Given the description of an element on the screen output the (x, y) to click on. 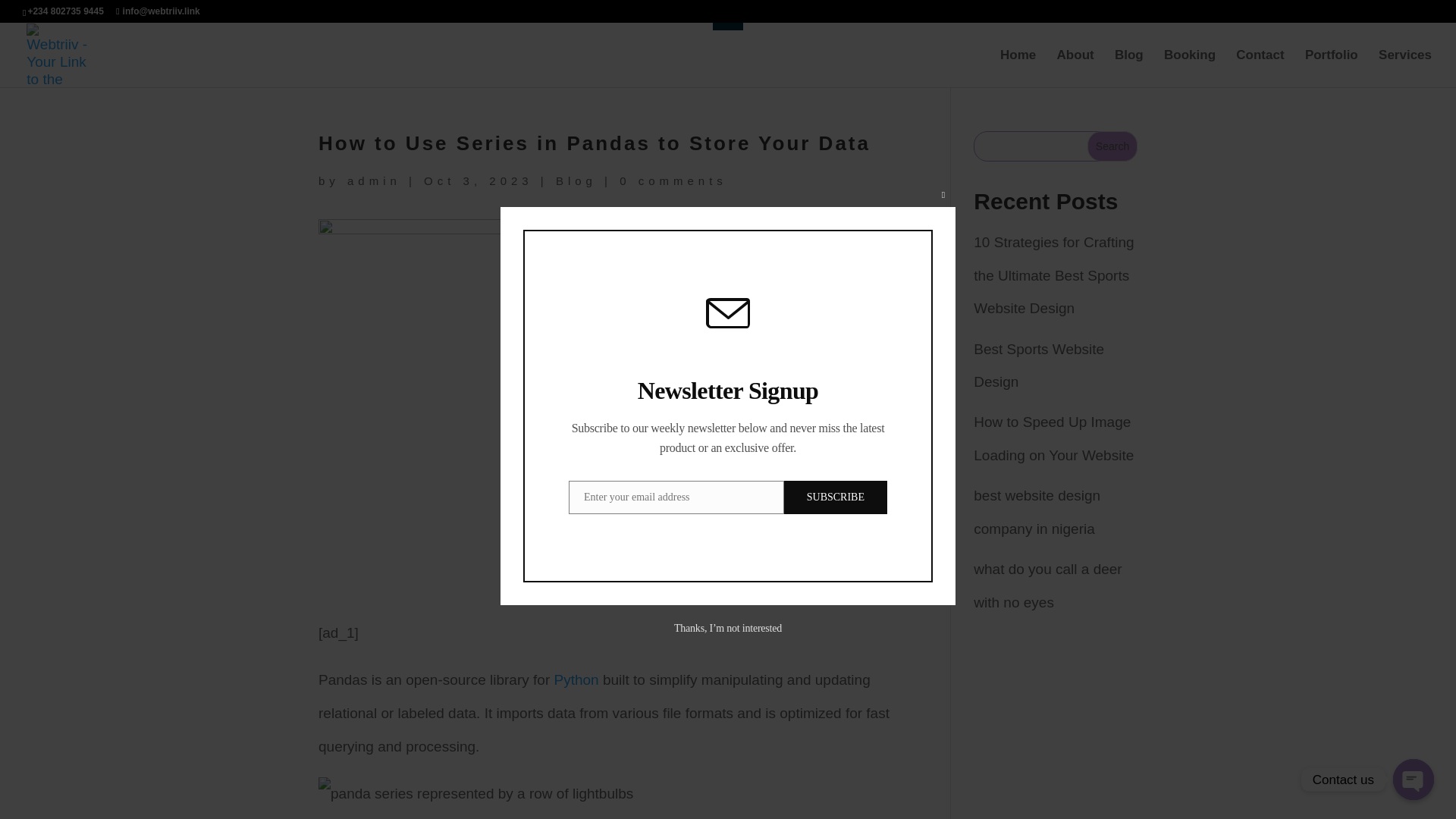
Posts by admin (374, 180)
Blog (576, 180)
admin (374, 180)
About (1075, 67)
Services (1404, 67)
How to Use Series in Pandas to Store Your Data (475, 793)
Python (575, 679)
Home (1017, 67)
Booking (1189, 67)
Portfolio (1331, 67)
0 comments (673, 180)
Contact (1260, 67)
